Given the description of an element on the screen output the (x, y) to click on. 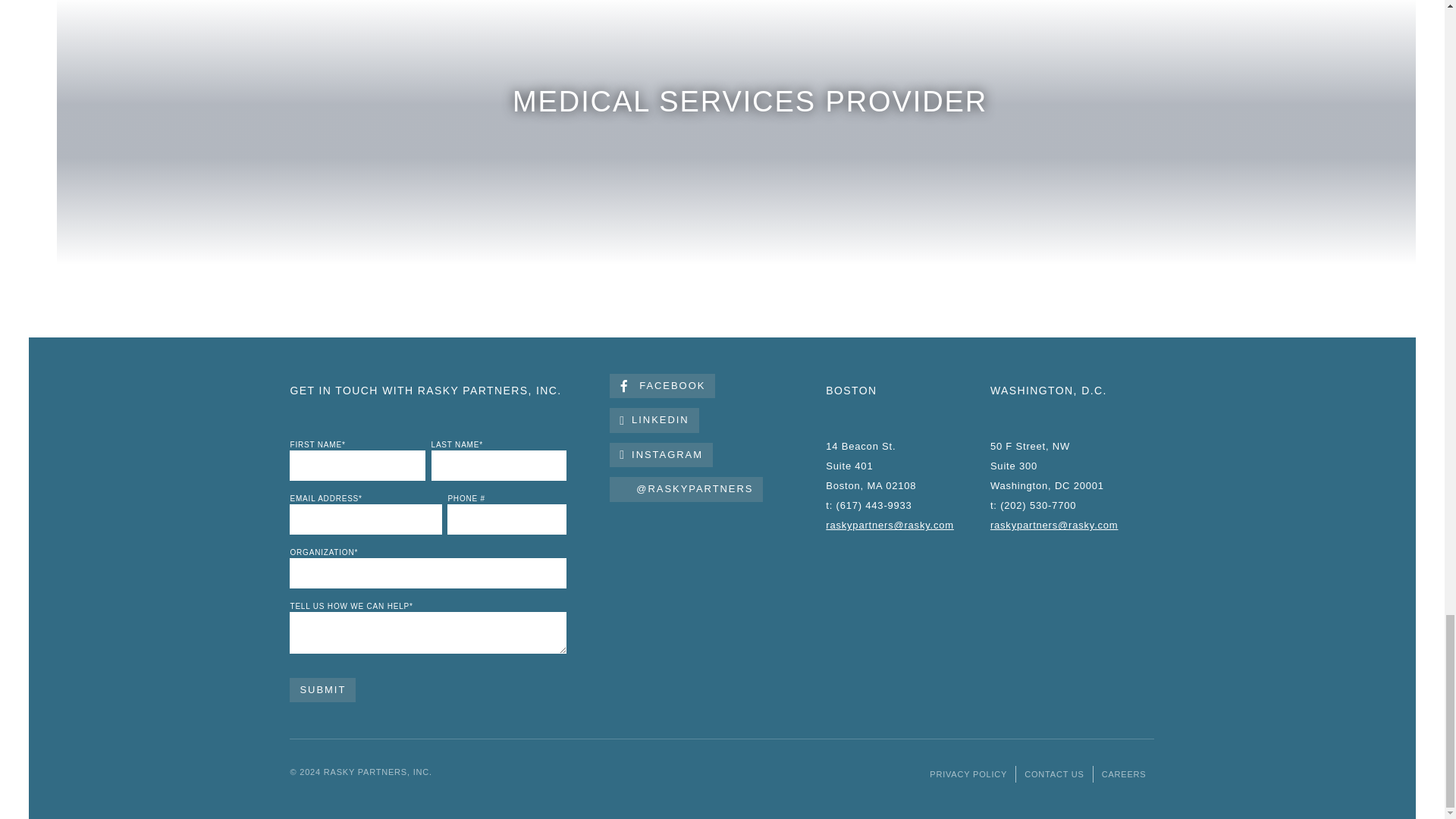
GET IN TOUCH WITH RASKY PARTNERS, INC. (424, 390)
Submit (322, 690)
LINKEDIN (654, 420)
PRIVACY POLICY (967, 773)
CONTACT US (1053, 773)
FACEBOOK (662, 385)
INSTAGRAM (661, 455)
Submit (322, 690)
CAREERS (1123, 773)
